Given the description of an element on the screen output the (x, y) to click on. 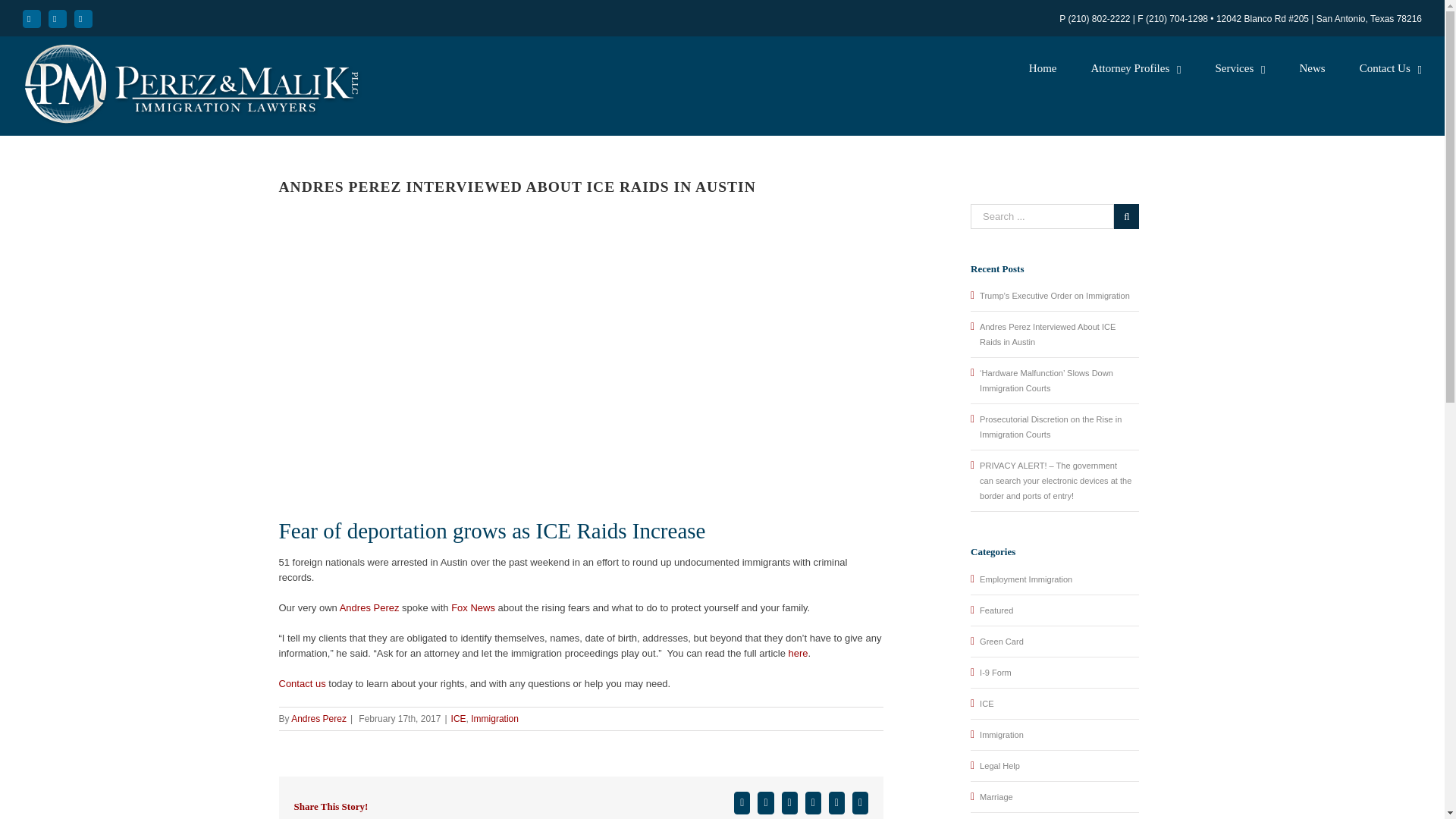
Posts by Andres Perez (318, 718)
Twitter (57, 18)
Linkedin (83, 18)
Facebook (31, 18)
Twitter (57, 18)
Facebook (31, 18)
Linkedin (83, 18)
Contact Us (1390, 67)
Attorney Profiles (1135, 67)
